Given the description of an element on the screen output the (x, y) to click on. 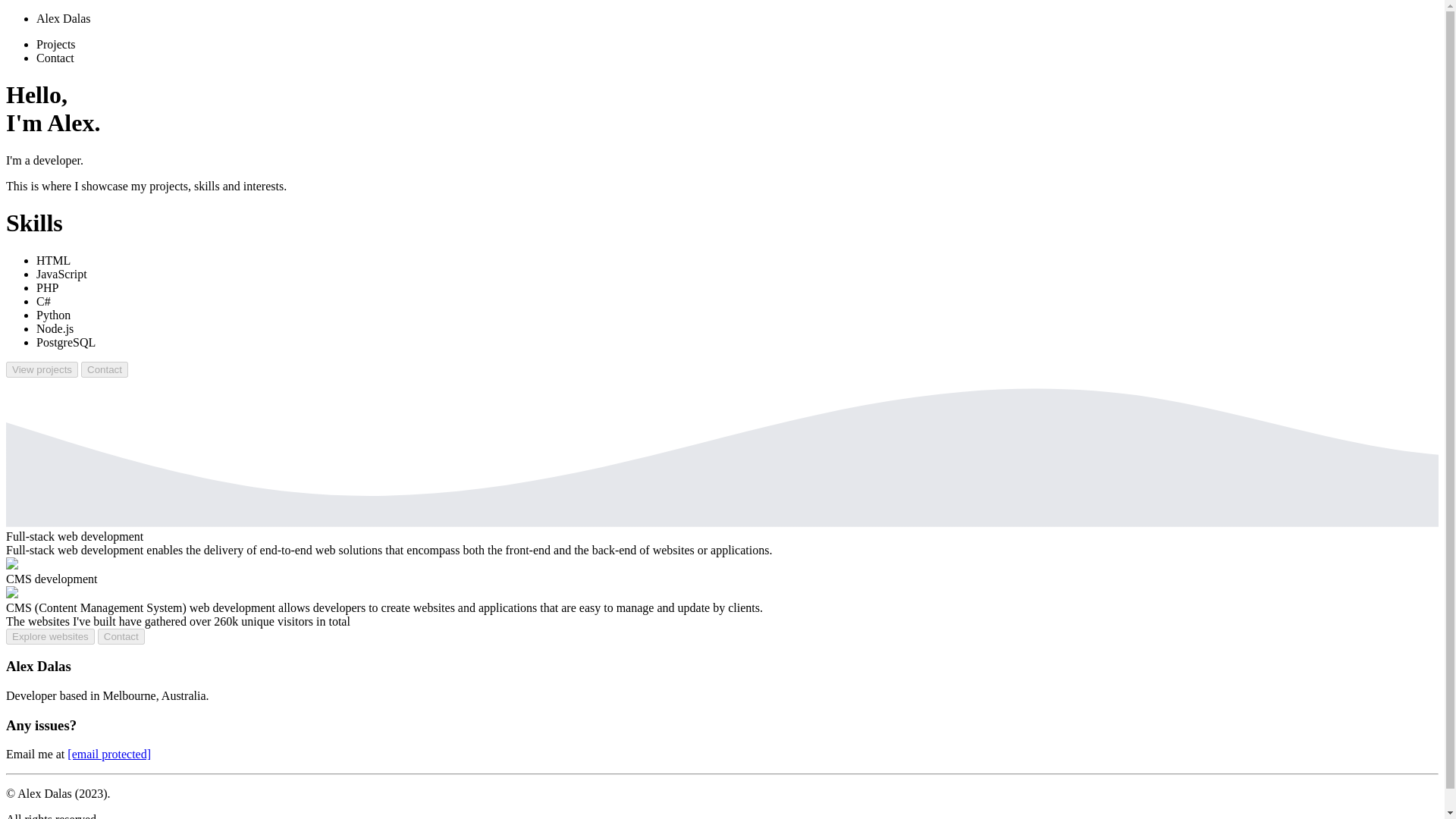
View projects (41, 369)
Contact (104, 369)
Contact (120, 636)
Explore websites (49, 636)
